Given the description of an element on the screen output the (x, y) to click on. 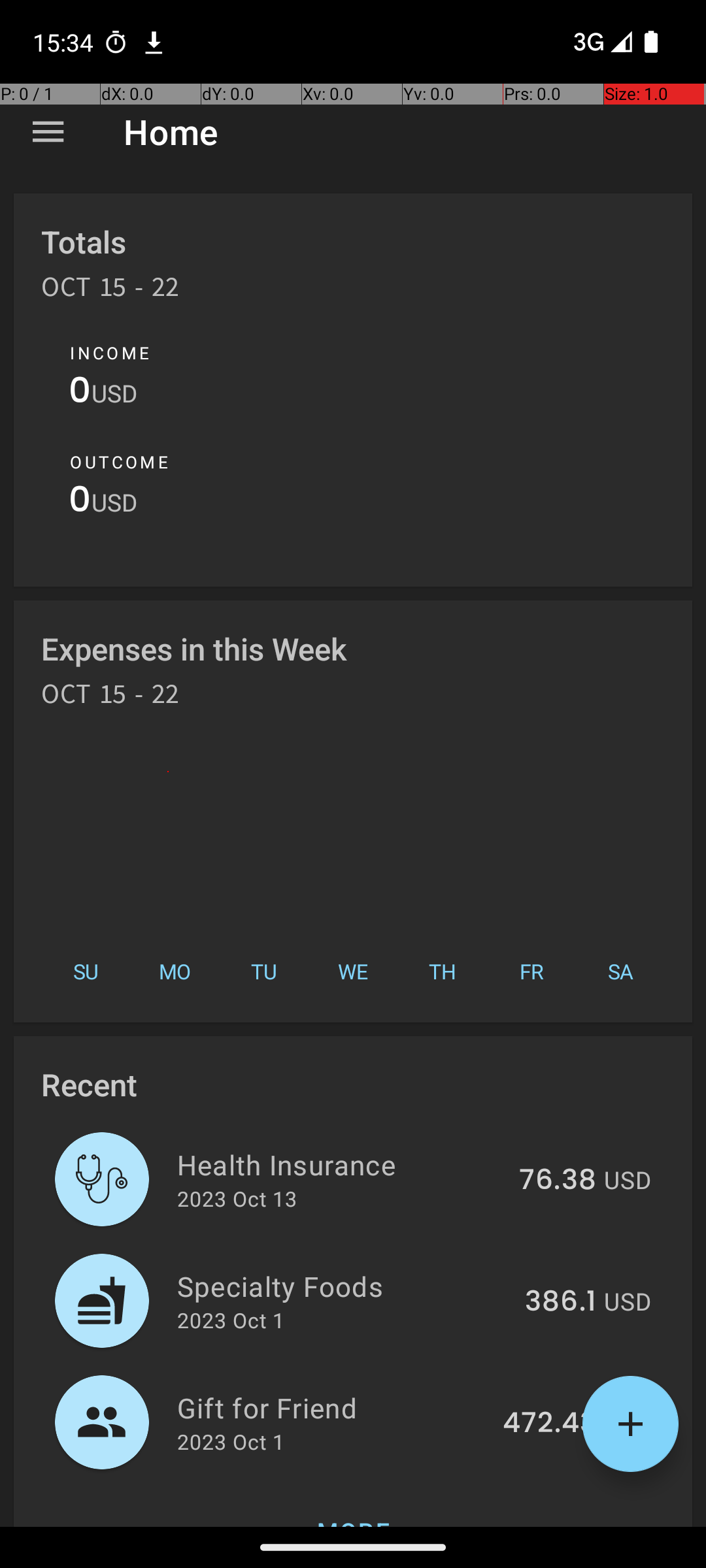
Health Insurance Element type: android.widget.TextView (340, 1164)
76.38 Element type: android.widget.TextView (557, 1180)
2023 Oct 1 Element type: android.widget.TextView (230, 1320)
386.1 Element type: android.widget.TextView (560, 1301)
472.43 Element type: android.widget.TextView (549, 1423)
